Given the description of an element on the screen output the (x, y) to click on. 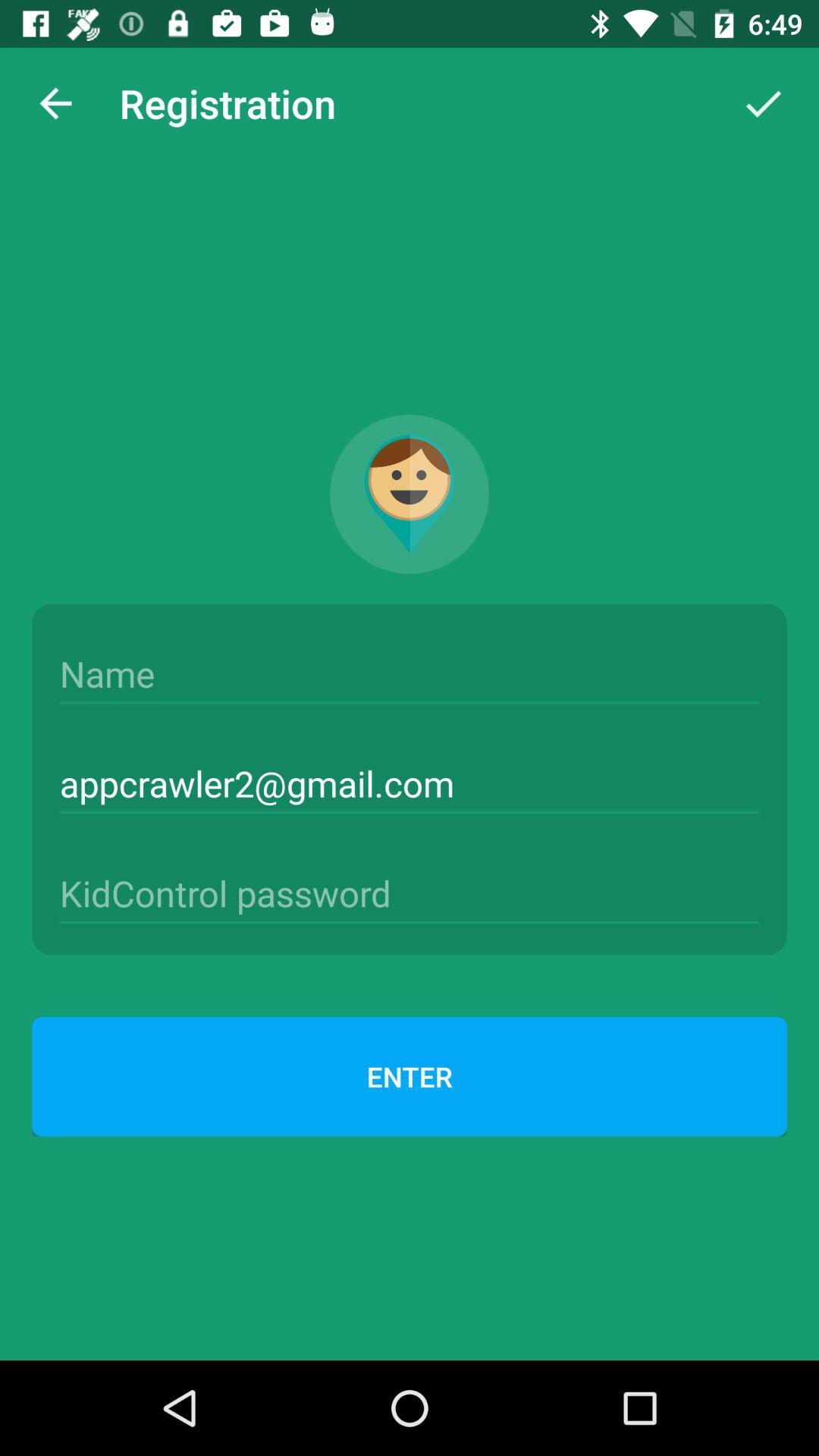
user name (409, 674)
